Given the description of an element on the screen output the (x, y) to click on. 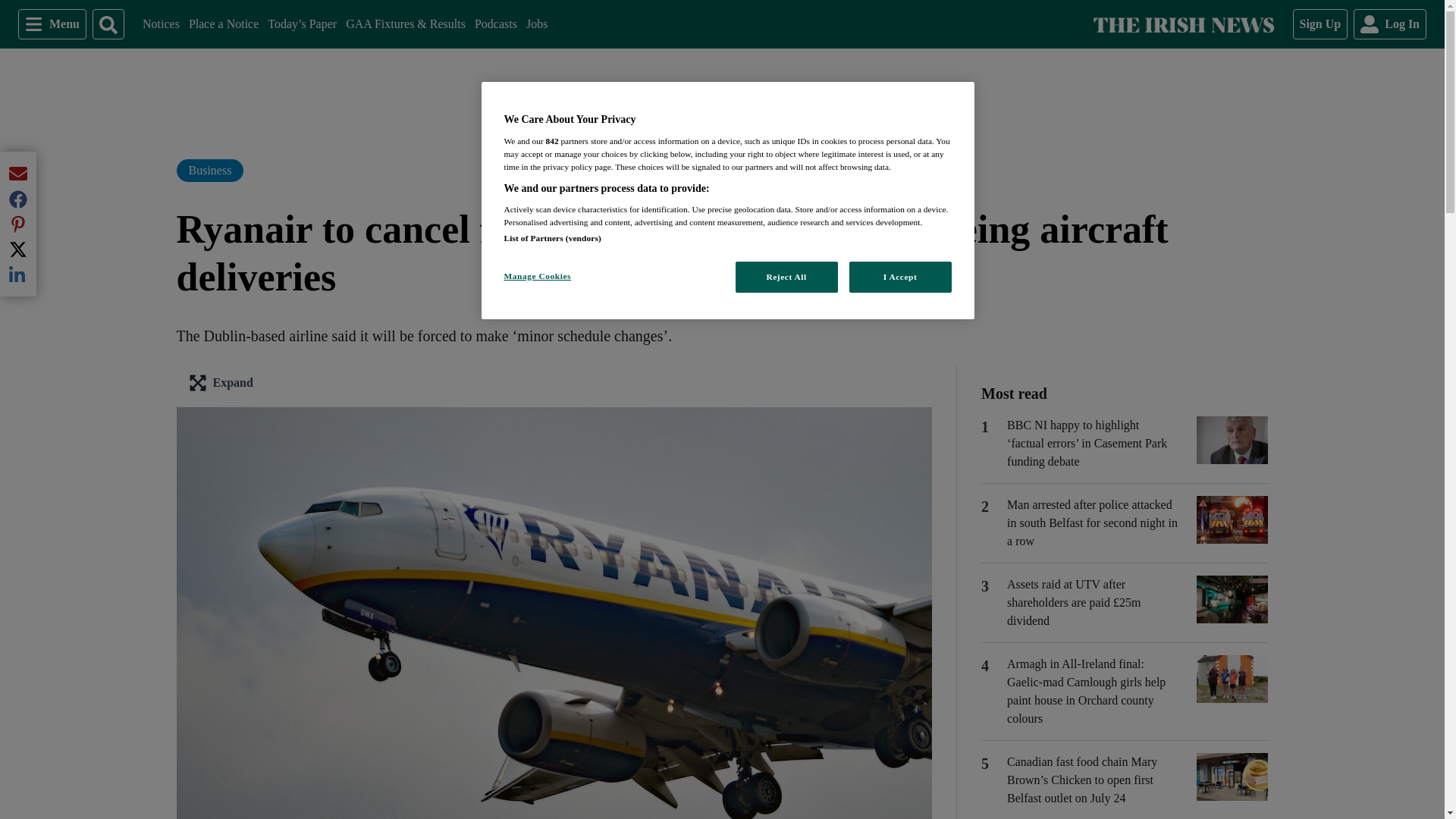
Podcasts (495, 24)
Sign Up (1320, 24)
The Irish News (1183, 23)
Log In (1390, 24)
Menu (51, 24)
